Given the description of an element on the screen output the (x, y) to click on. 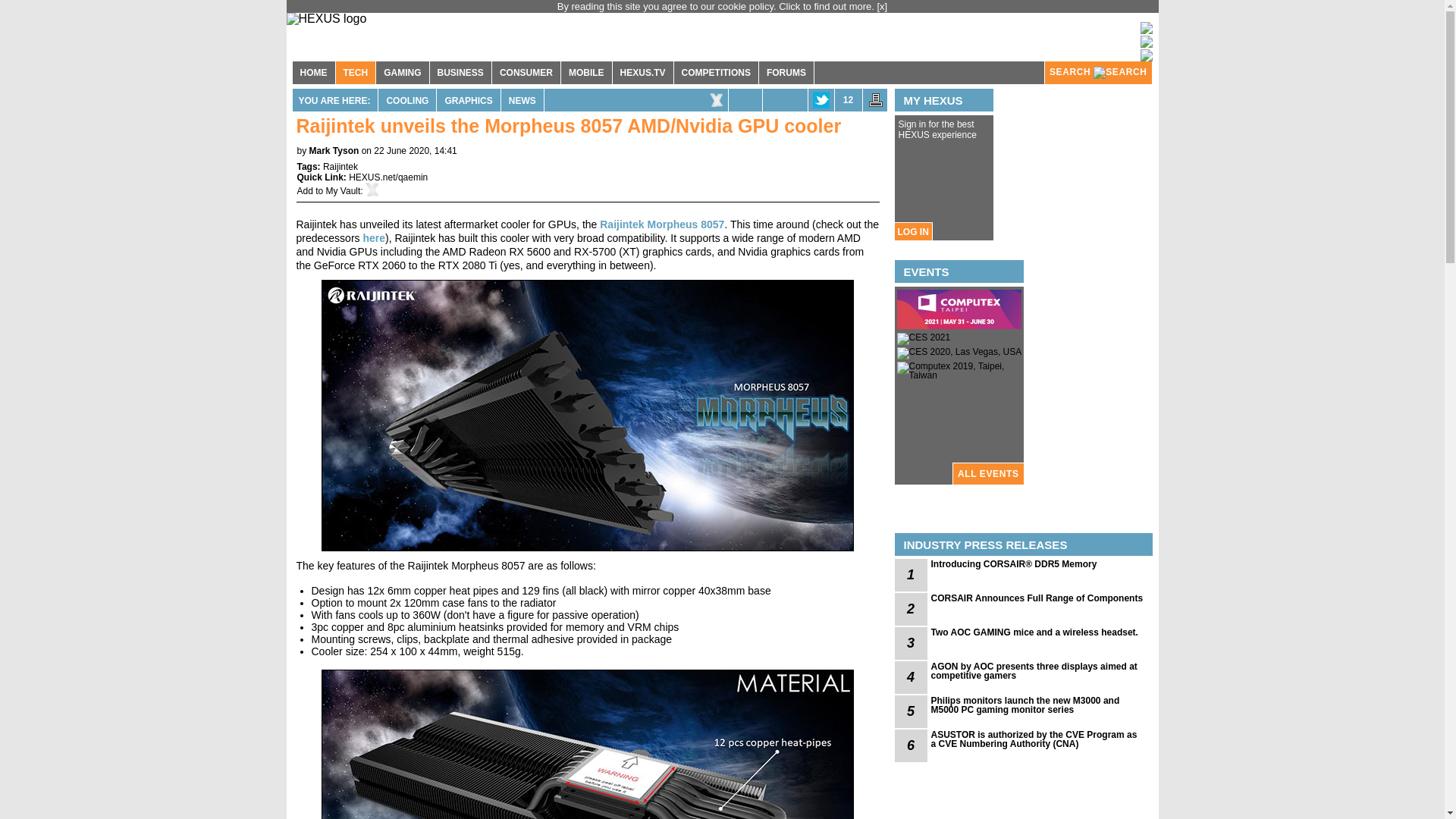
COMPETITIONS (716, 72)
Raijintek (340, 166)
COOLING (406, 99)
My Vault (343, 190)
Raijintek Morpheus 8057 (661, 224)
here (373, 237)
CONSUMER (526, 72)
NEWS (521, 99)
Discuss in the HEXUS Forums (847, 99)
SEARCH (1098, 72)
